Given the description of an element on the screen output the (x, y) to click on. 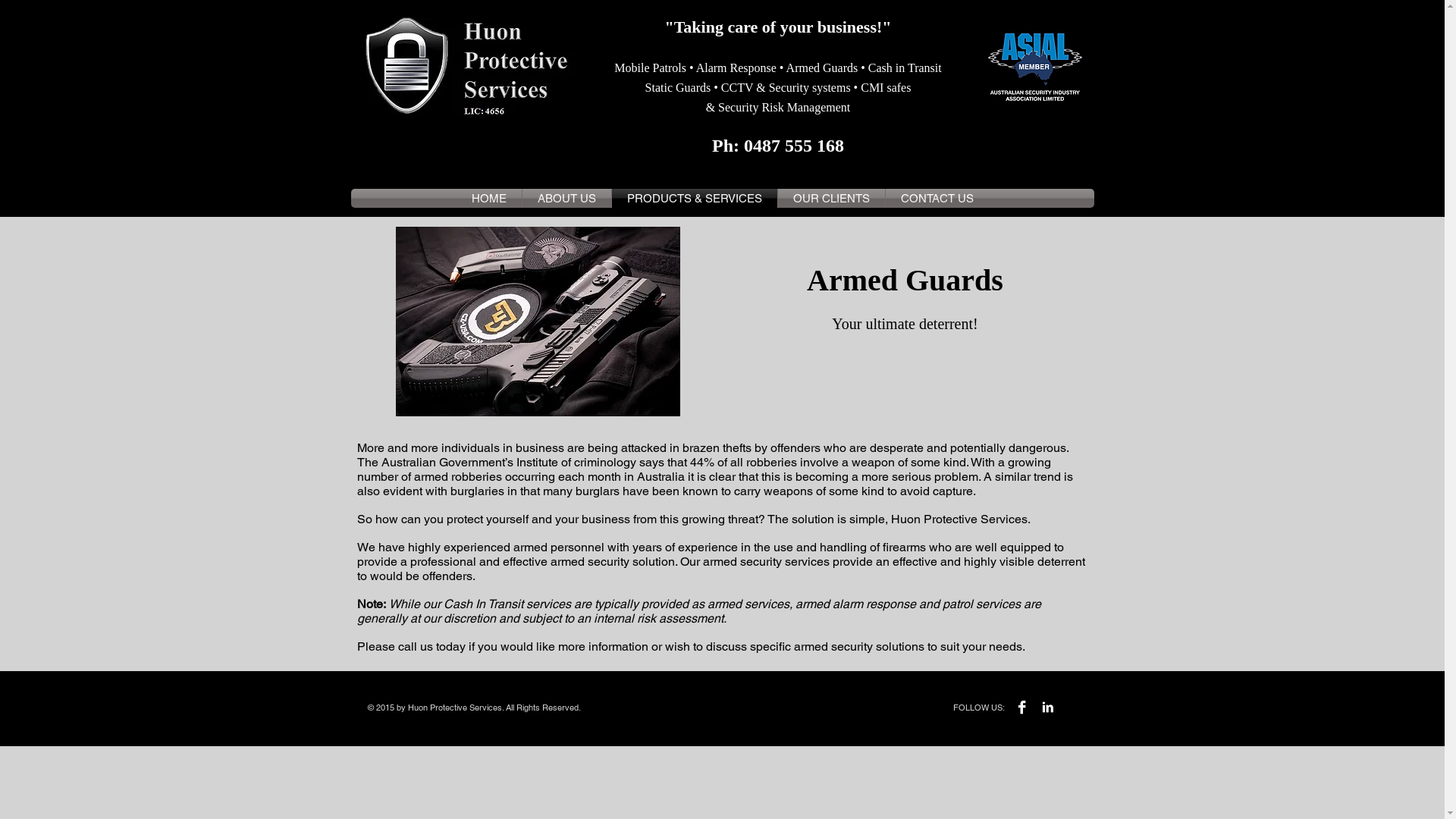
ABOUT US Element type: text (565, 197)
ASIAL Element type: hover (1034, 66)
OUR CLIENTS Element type: text (831, 197)
HOME Element type: text (488, 197)
PRODUCTS & SERVICES Element type: text (693, 197)
CONTACT US Element type: text (936, 197)
HPS Element type: hover (465, 67)
